Given the description of an element on the screen output the (x, y) to click on. 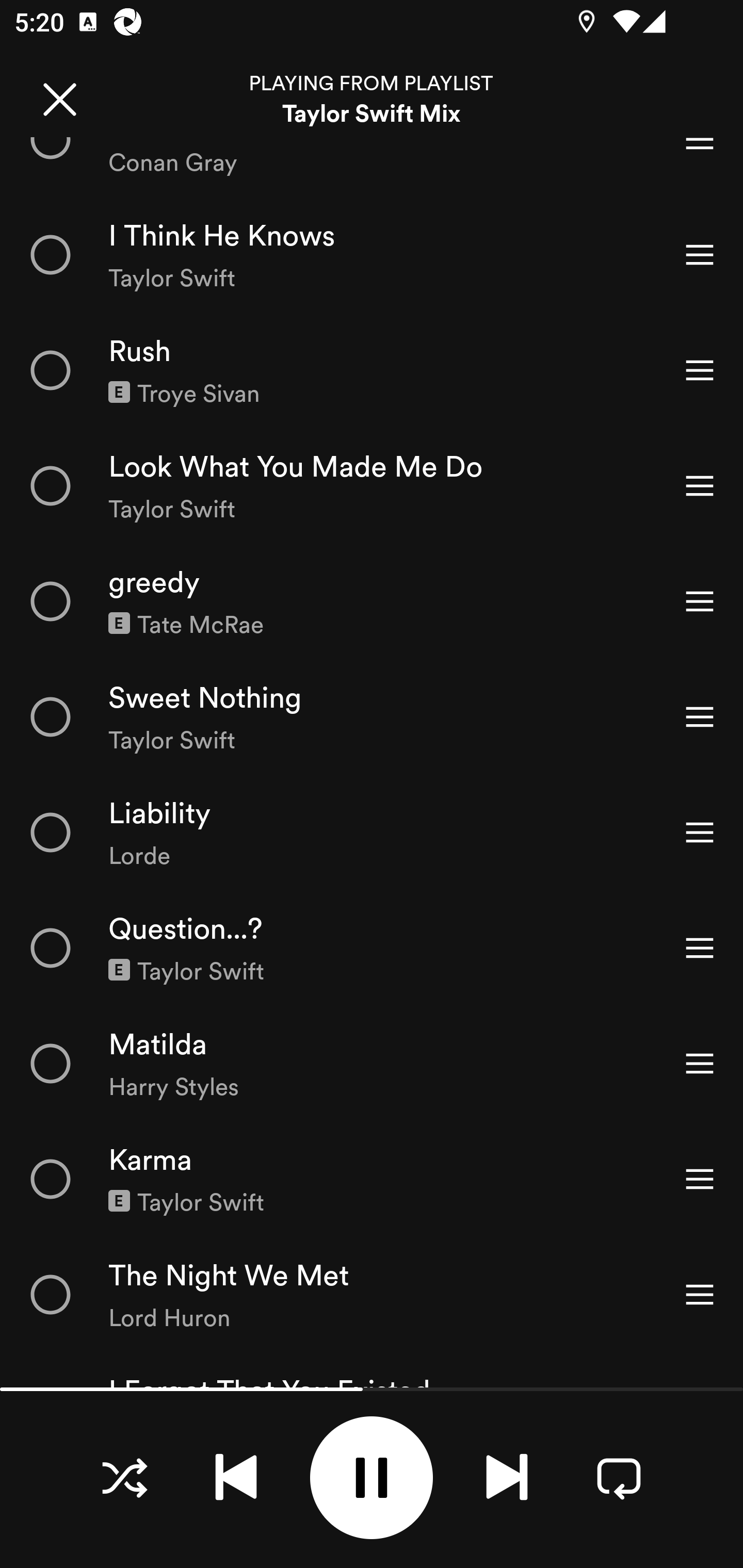
Close (59, 99)
PLAYING FROM PLAYLIST Taylor Swift Mix (371, 99)
People Watching Conan Gray Reorder track (371, 167)
I Think He Knows Taylor Swift Reorder track (371, 254)
Rush Explicit Troye Sivan Reorder track (371, 370)
greedy Explicit Tate McRae Reorder track (371, 601)
Sweet Nothing Taylor Swift Reorder track (371, 716)
Liability Lorde Reorder track (371, 832)
Question...? Explicit Taylor Swift Reorder track (371, 947)
Matilda Harry Styles Reorder track (371, 1063)
Karma Explicit Taylor Swift Reorder track (371, 1179)
The Night We Met Lord Huron Reorder track (371, 1294)
Pause (371, 1477)
Previous (235, 1477)
Next (507, 1477)
Choose a Listening Mode (123, 1477)
Repeat (618, 1477)
